Given the description of an element on the screen output the (x, y) to click on. 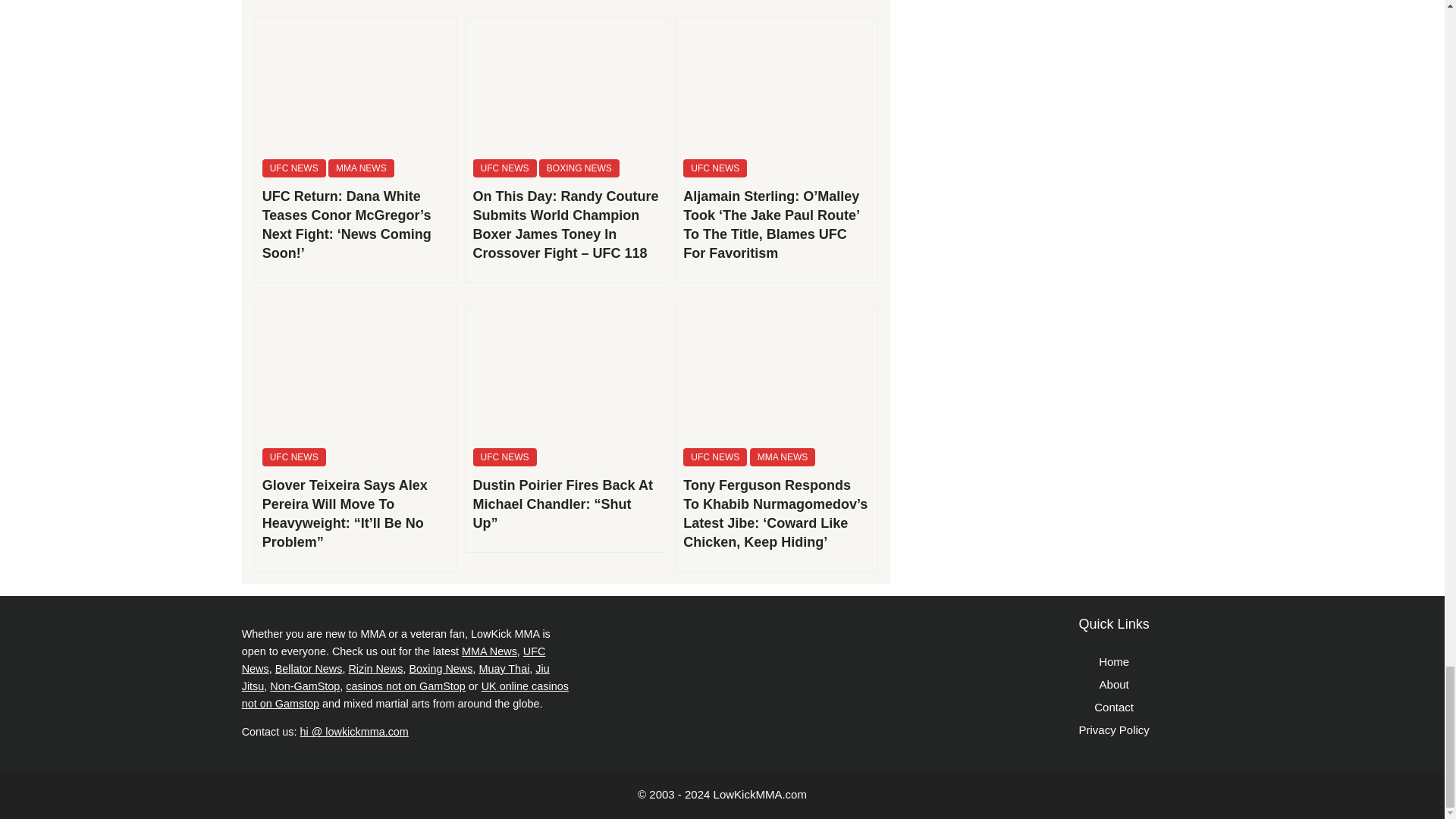
Dustin Poirier Fires Back at Michael Chandler: "Shut Up" 6 (565, 373)
